Given the description of an element on the screen output the (x, y) to click on. 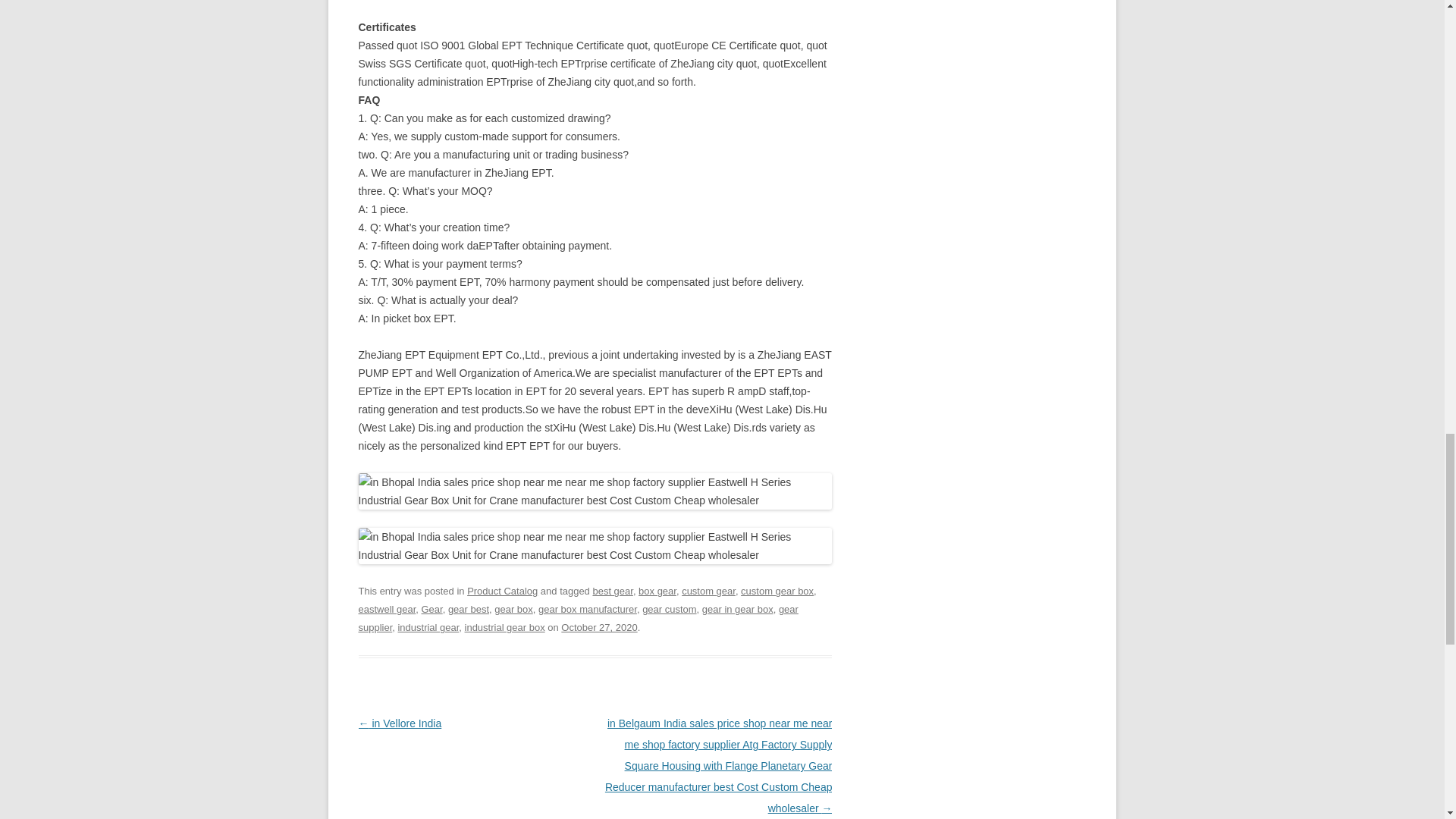
gear supplier (577, 618)
eastwell gear (386, 609)
1:22 am (598, 627)
October 27, 2020 (598, 627)
box gear (658, 591)
industrial gear (427, 627)
custom gear box (777, 591)
gear best (468, 609)
best gear (611, 591)
